Given the description of an element on the screen output the (x, y) to click on. 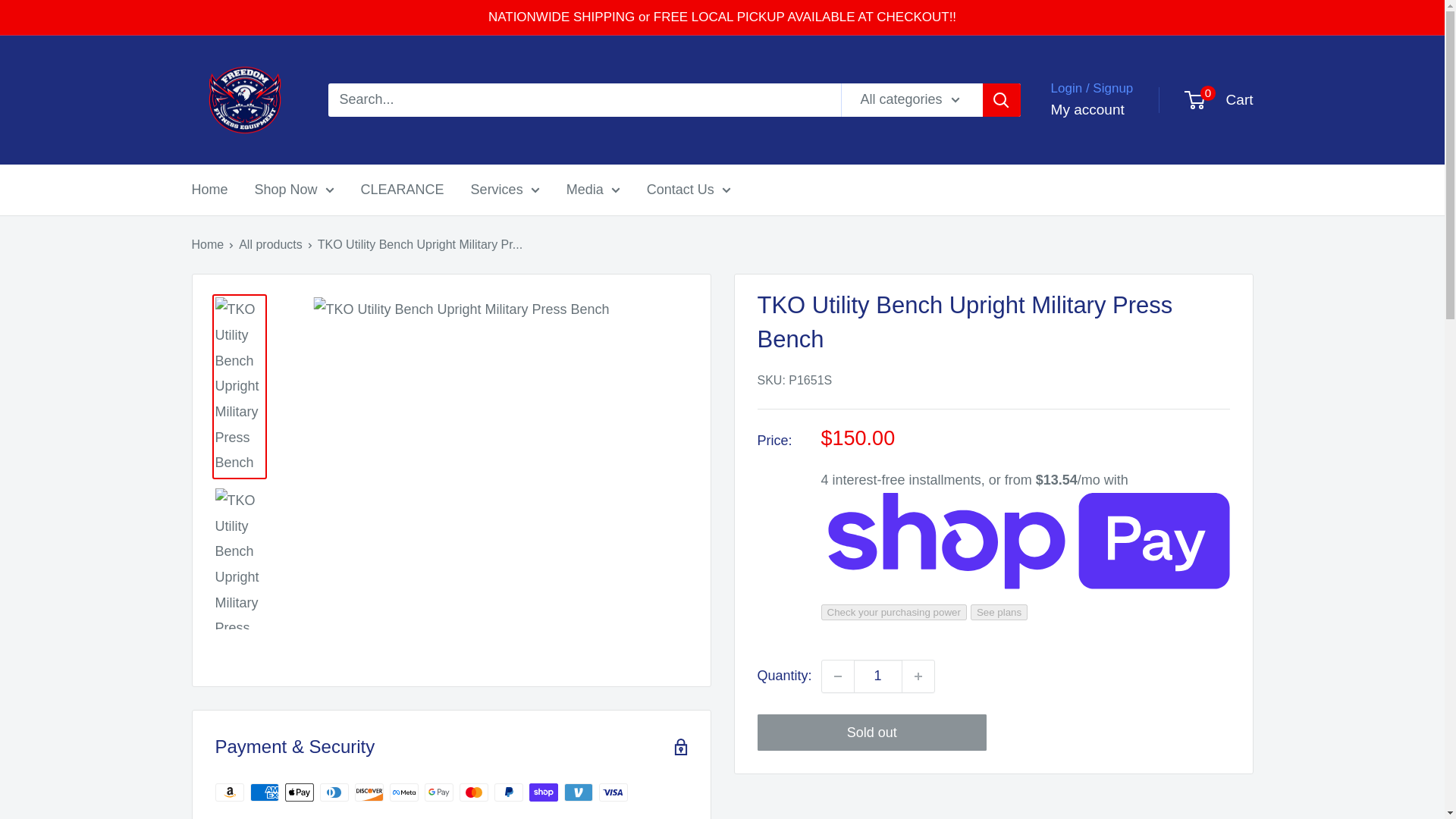
Decrease quantity by 1 (837, 676)
Increase quantity by 1 (918, 676)
1 (877, 676)
